Given the description of an element on the screen output the (x, y) to click on. 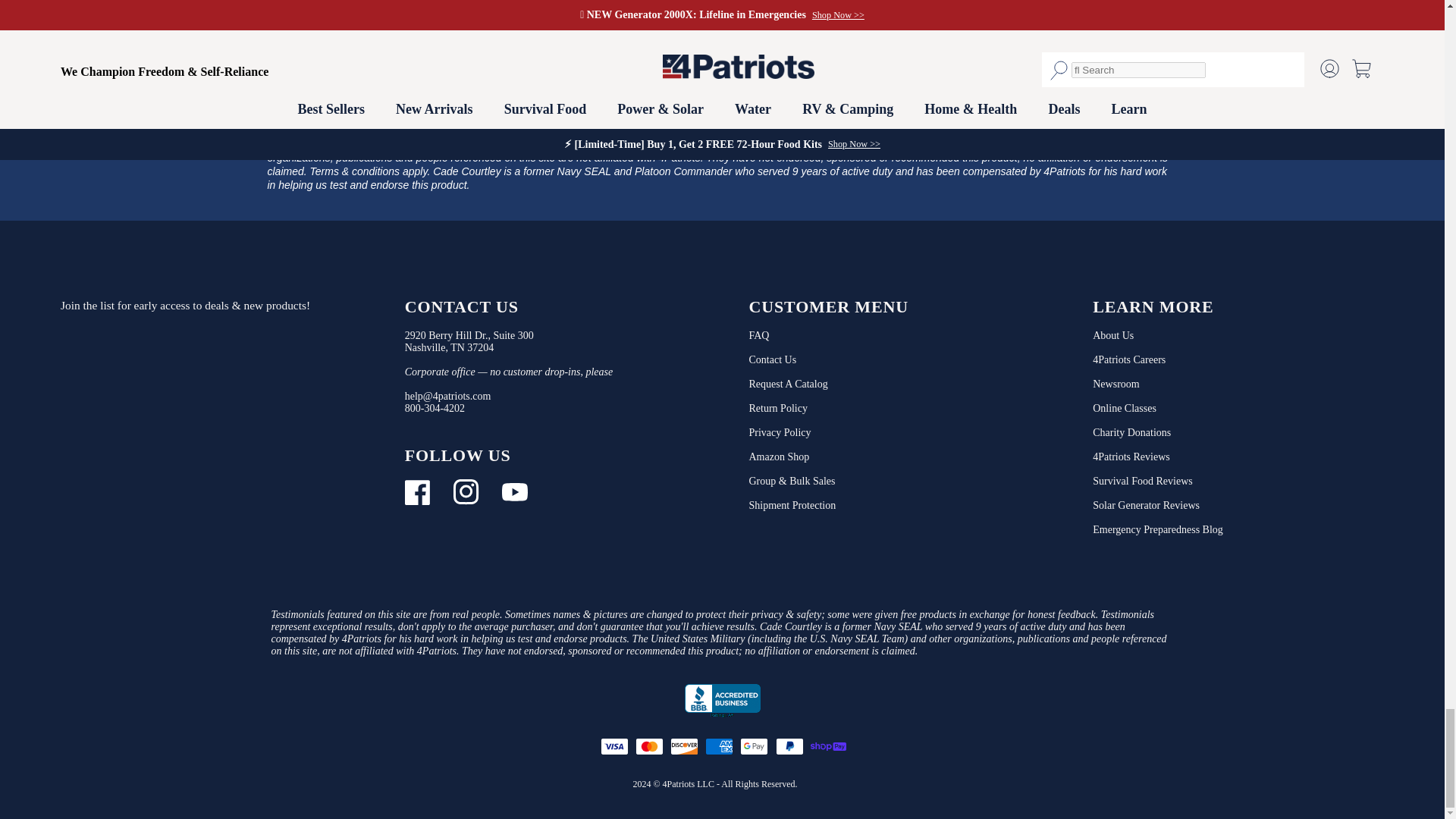
4Patriots customer support (434, 408)
4Patriots, LLC., Online Retailer, Nashville, TN (722, 700)
Shop Pay (826, 746)
